Given the description of an element on the screen output the (x, y) to click on. 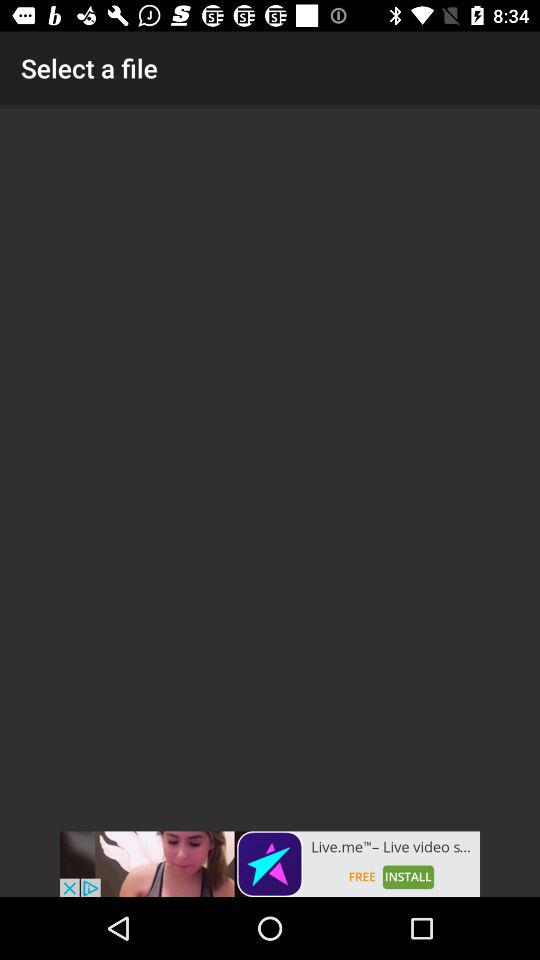
visit advertiser (270, 864)
